Given the description of an element on the screen output the (x, y) to click on. 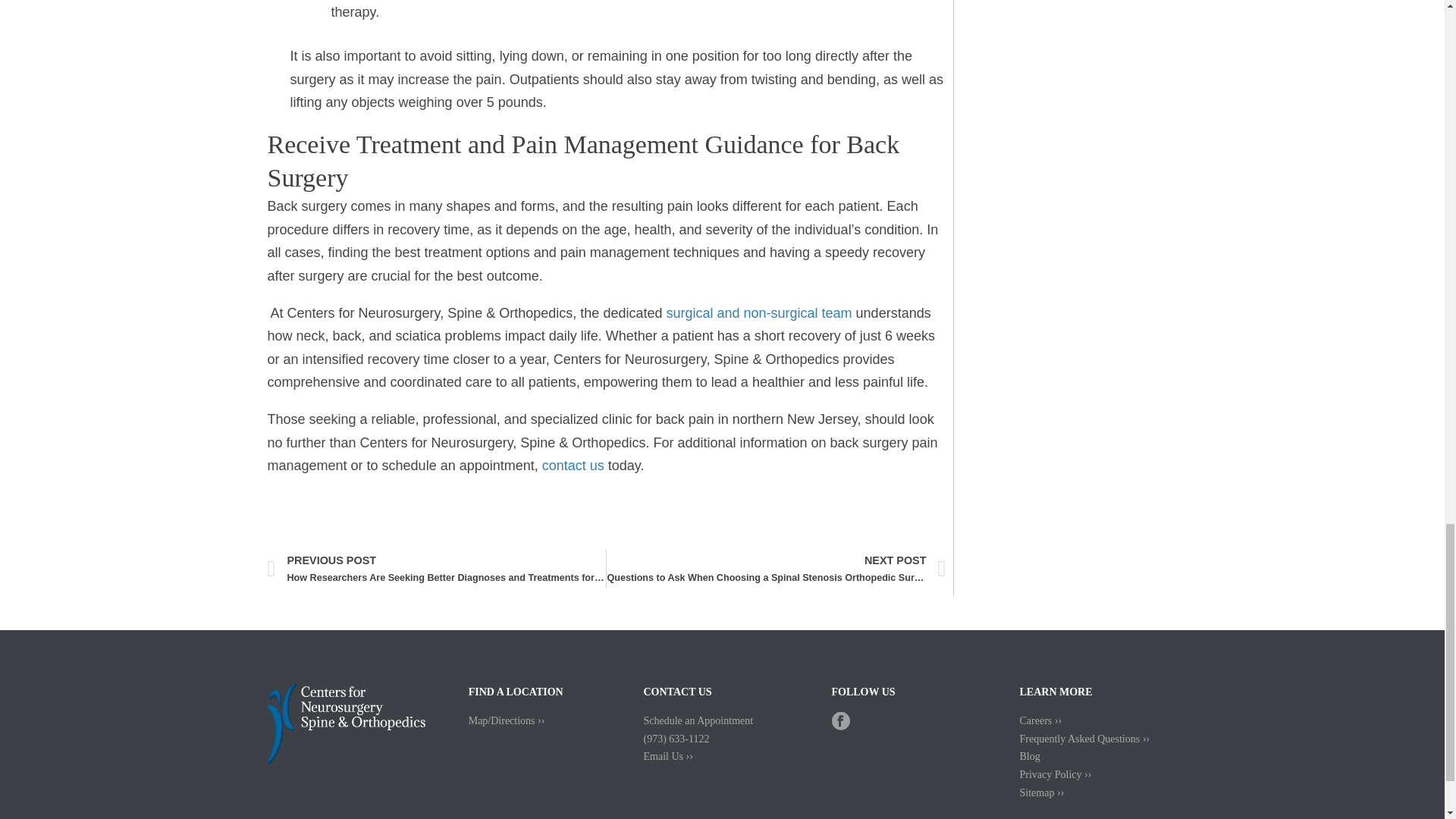
 facebook (839, 726)
